Given the description of an element on the screen output the (x, y) to click on. 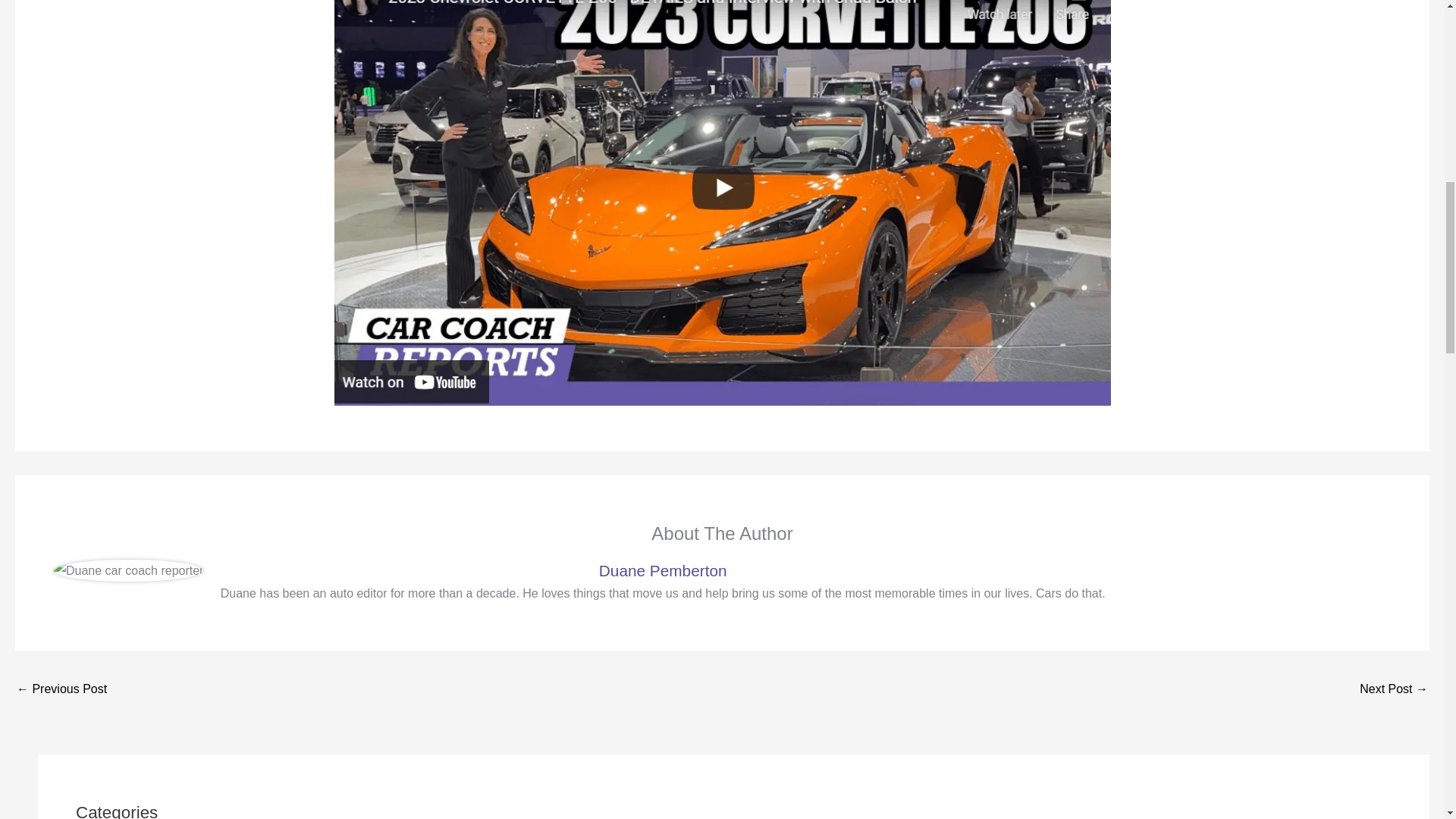
NEW RAPTOR! 2021 Ford F-150 Raptor Review (1393, 690)
